Given the description of an element on the screen output the (x, y) to click on. 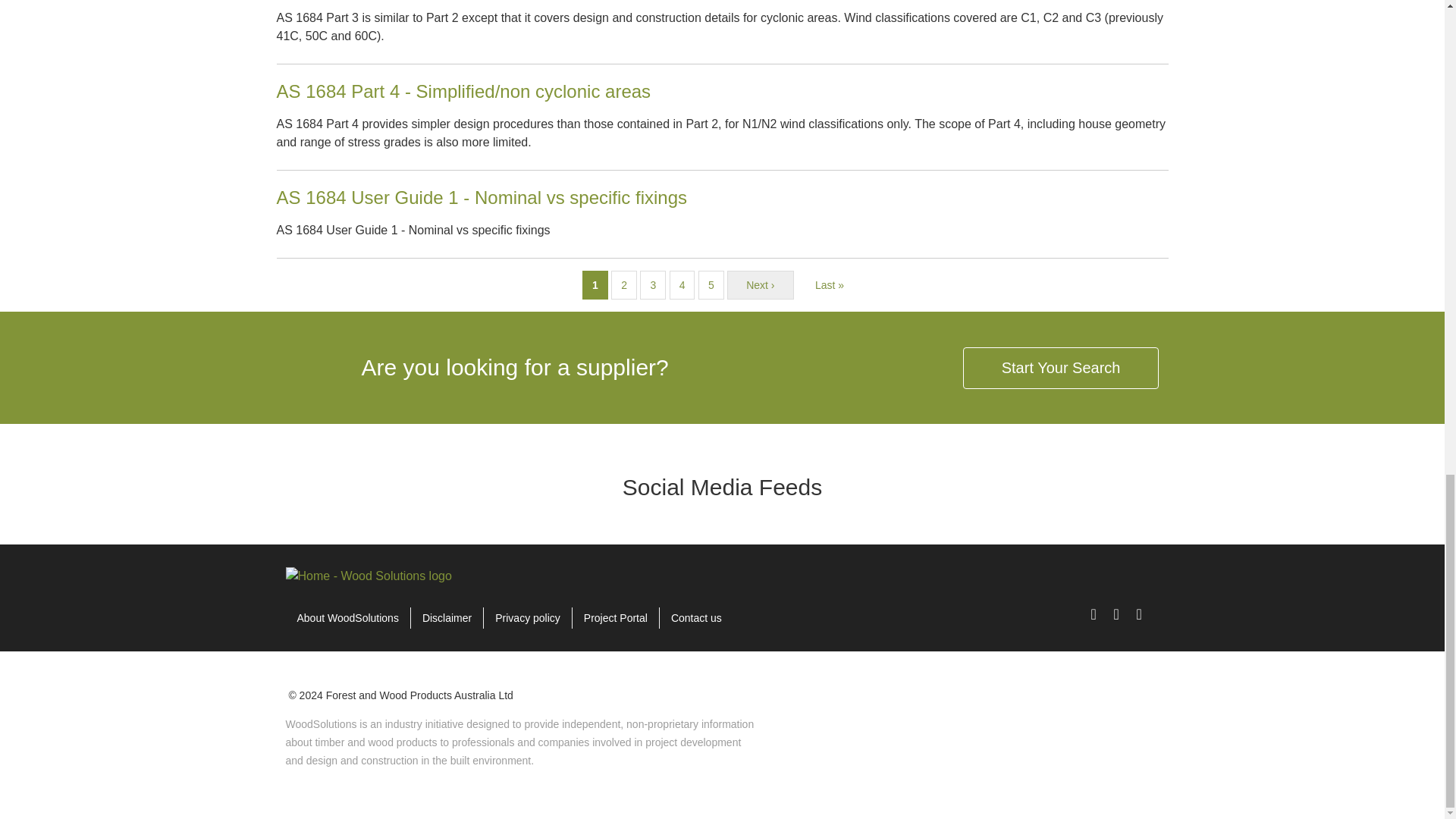
Go to last page (828, 284)
Go to page 2 (623, 284)
Go to next page (760, 284)
Home (368, 575)
Current page (595, 284)
Go to page 3 (652, 284)
Project Portal (615, 617)
Go to page 5 (710, 284)
